Given the description of an element on the screen output the (x, y) to click on. 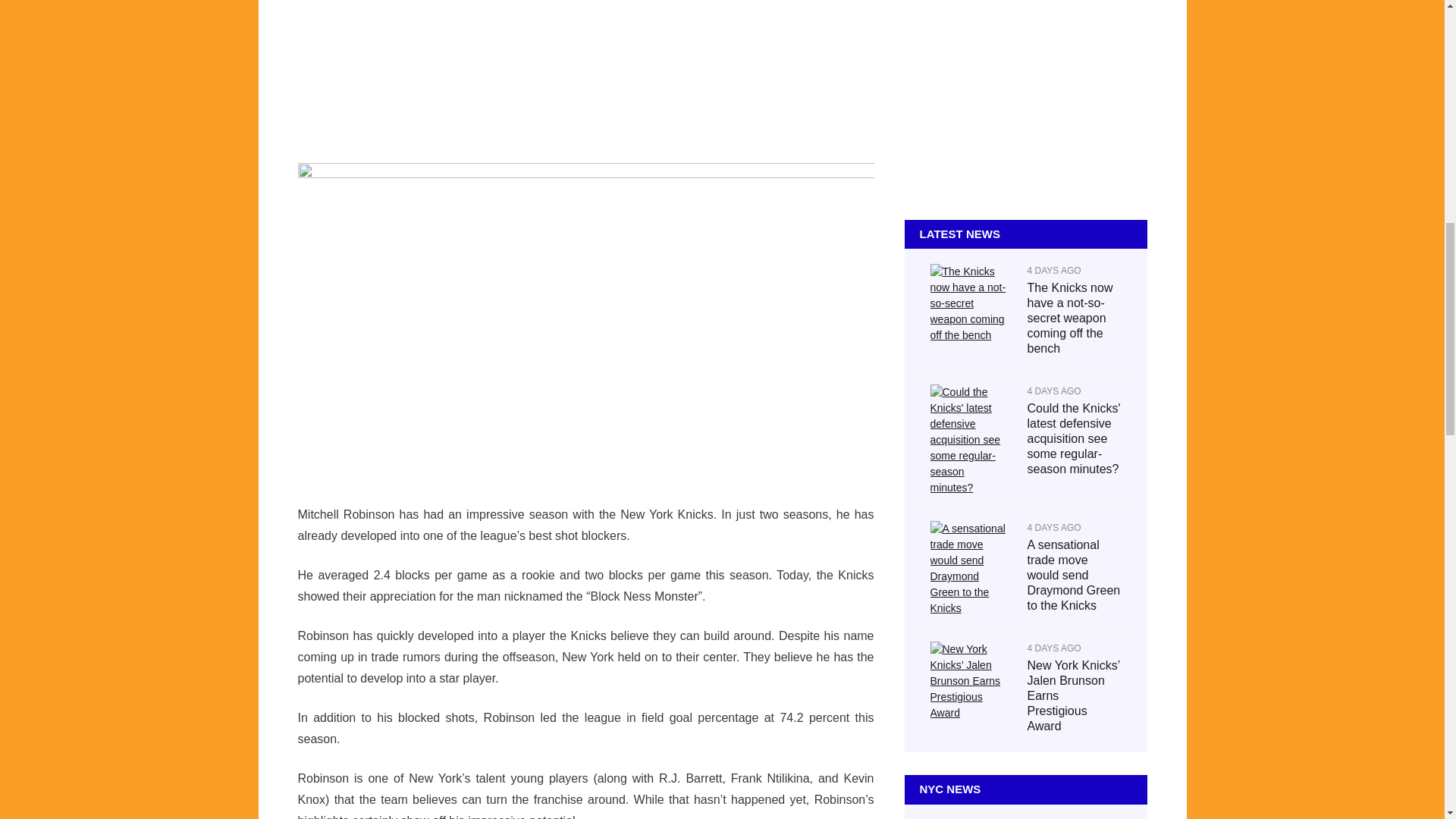
Trail Blazers center would take Knicks to new heights (1013, 799)
